Given the description of an element on the screen output the (x, y) to click on. 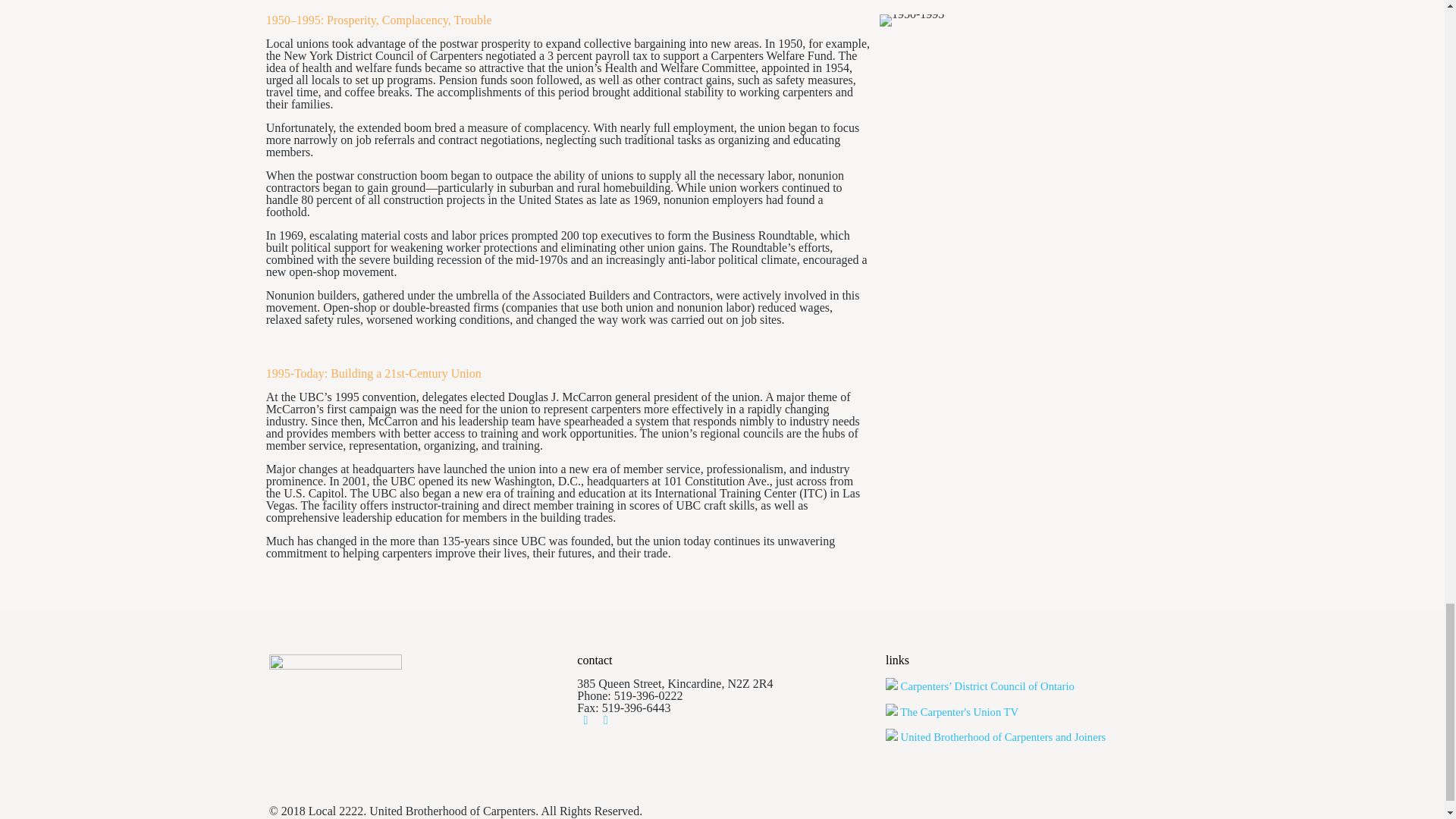
The Carpenter's Union TV (951, 711)
United Brotherhood of Carpenters and Joiners (995, 736)
